Given the description of an element on the screen output the (x, y) to click on. 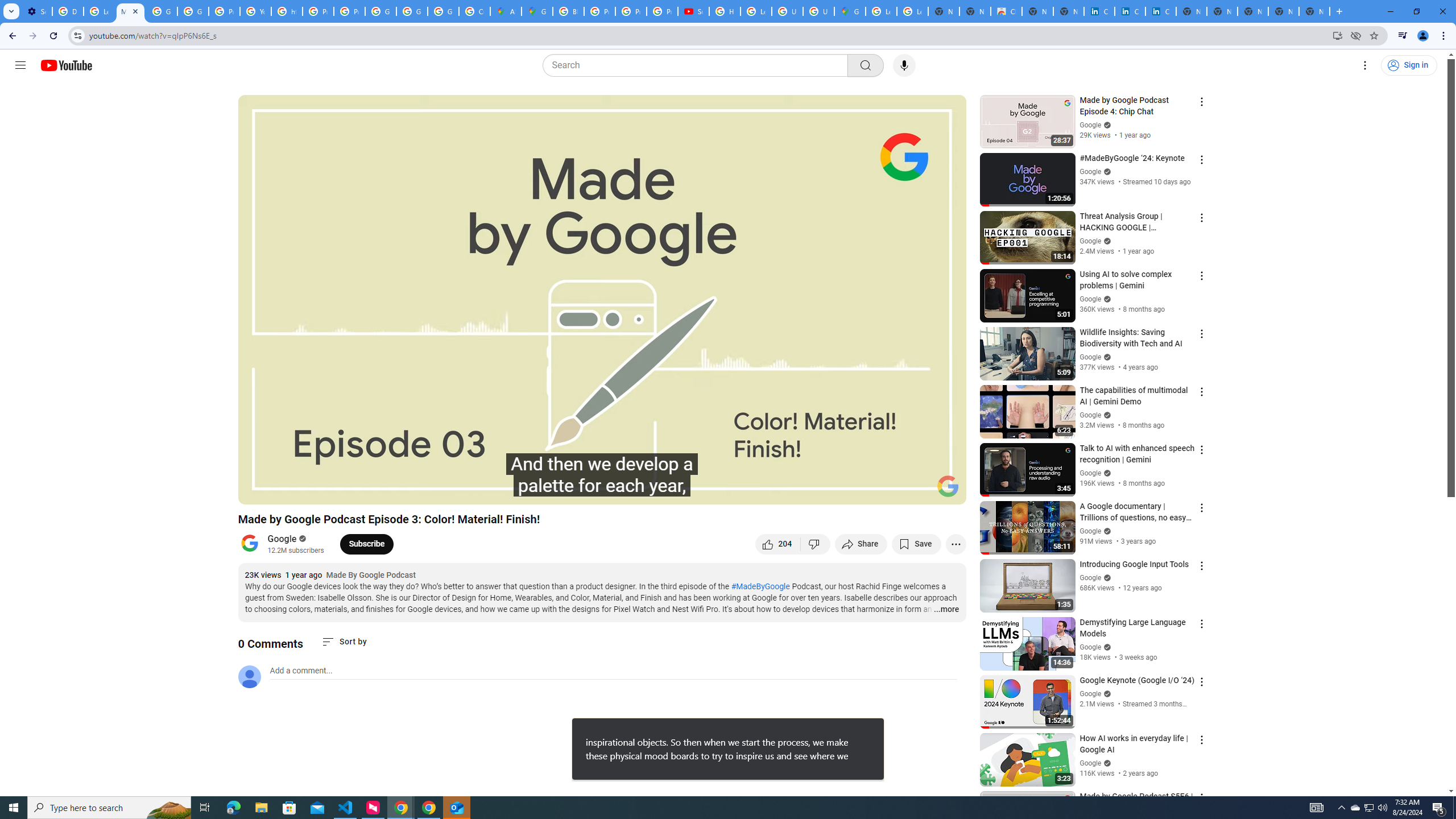
YouTube Home (66, 65)
Sort comments (343, 641)
Next (SHIFT+n) (284, 490)
Install YouTube (1336, 35)
Google Maps (849, 11)
...more (946, 609)
Privacy Help Center - Policies Help (223, 11)
More actions (955, 543)
Settings - Customize profile (36, 11)
Chrome Web Store (1005, 11)
Blogger Policies and Guidelines - Transparency Center (568, 11)
